Given the description of an element on the screen output the (x, y) to click on. 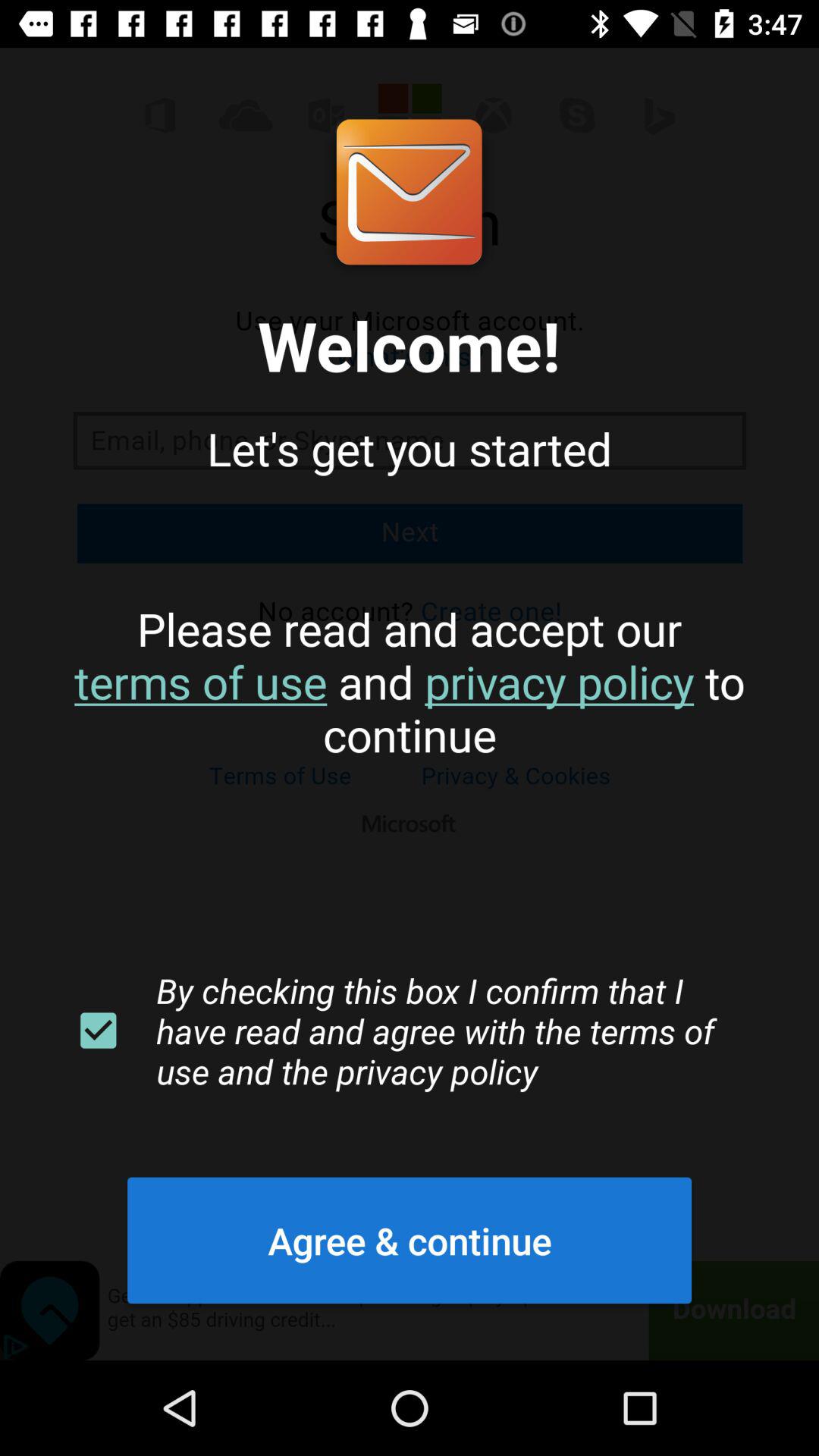
jump until the agree & continue item (409, 1240)
